Given the description of an element on the screen output the (x, y) to click on. 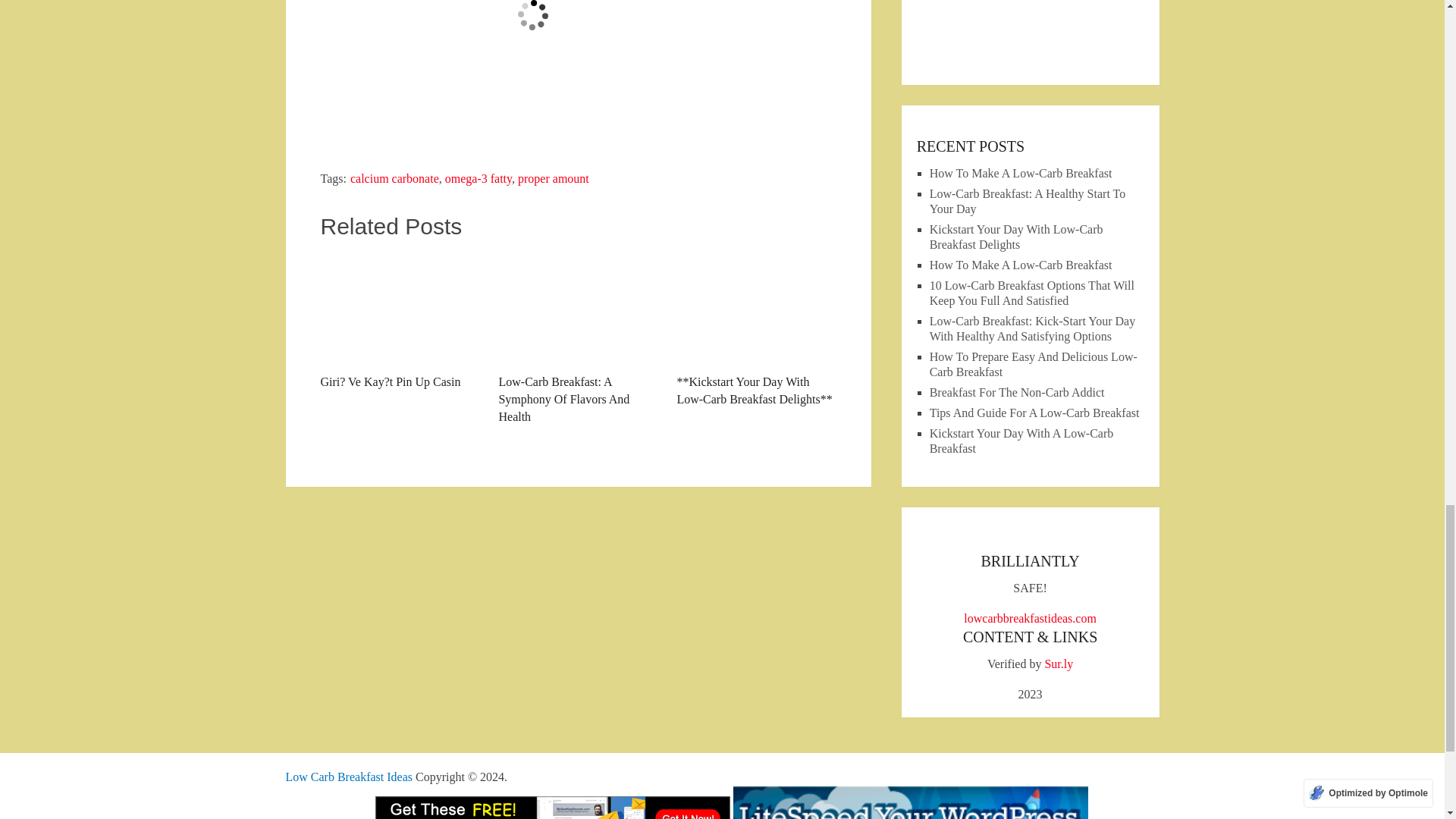
Low Carb Breakfast Ideas (348, 776)
lowcarbbreakfastideas.com (1029, 617)
Giri? Ve Kay?t Pin Up Casin (399, 320)
Low-Carb Breakfast: A Healthy Start To Your Day (1027, 201)
Tips And Guide For A Low-Carb Breakfast (1035, 412)
proper amount (553, 178)
YouTube video player (532, 67)
Kickstart Your Day With Low-Carb Breakfast Delights (1016, 236)
Low-Carb Breakfast: A Symphony Of Flavors And Health (577, 338)
Sur.ly (1058, 663)
Giri? Ve Kay?t Pin Up Casin (399, 320)
Low-Carb Breakfast: A Symphony Of Flavors And Health (577, 308)
Low-Carb Breakfast: A Symphony Of Flavors And Health (577, 338)
Breakfast For The Non-Carb Addict (1017, 391)
